Given the description of an element on the screen output the (x, y) to click on. 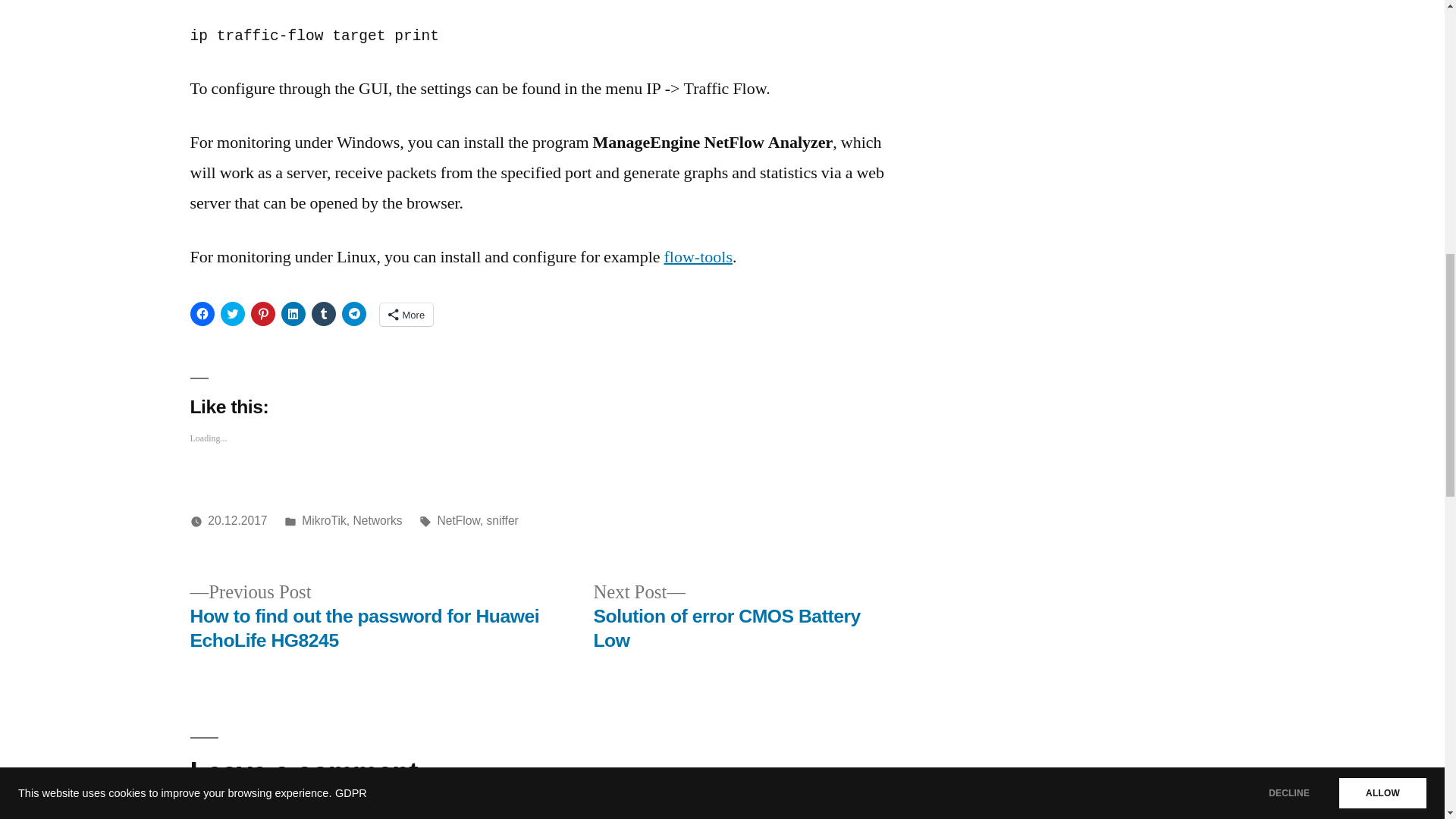
flow-tools (697, 256)
Click to share on Pinterest (262, 313)
Click to share on Facebook (201, 313)
NetFlow (457, 520)
Click to share on Twitter (231, 313)
Networks (376, 520)
MikroTik (726, 616)
More (323, 520)
